Given the description of an element on the screen output the (x, y) to click on. 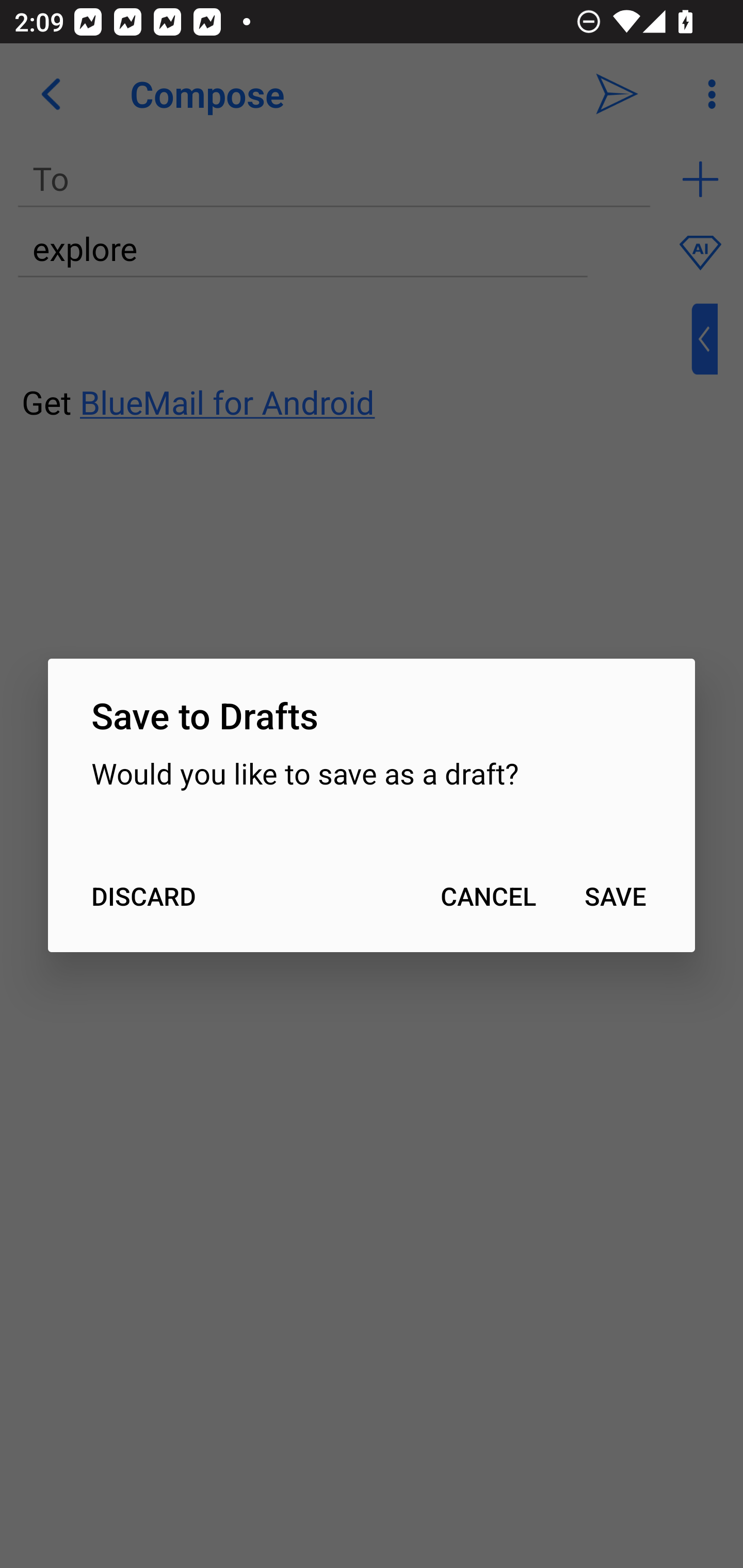
DISCARD (143, 895)
CANCEL (488, 895)
SAVE (615, 895)
